Given the description of an element on the screen output the (x, y) to click on. 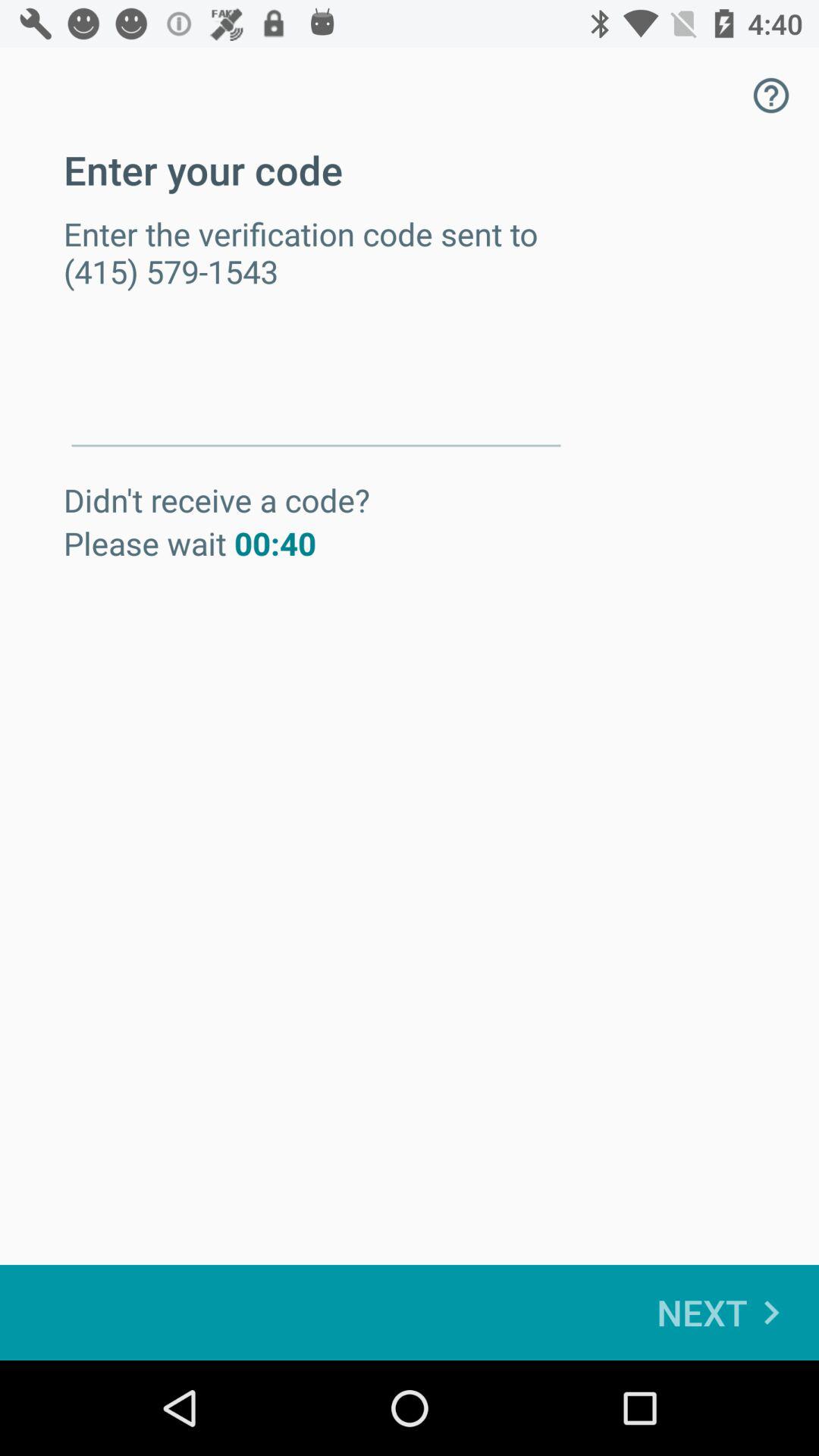
swipe until the next icon (726, 1312)
